Given the description of an element on the screen output the (x, y) to click on. 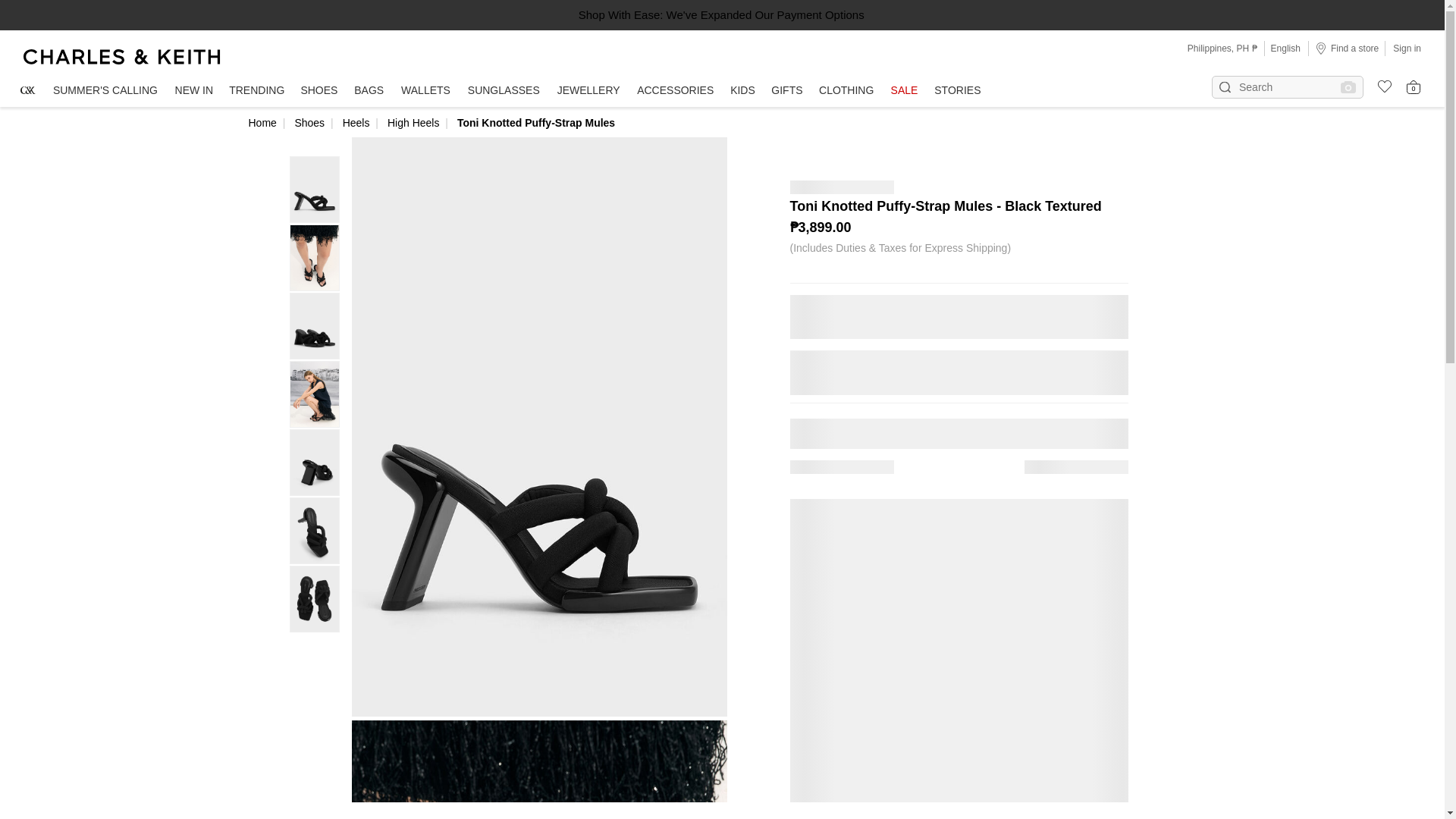
Shop With Ease: We've Expanded Our Payment Options (721, 14)
Philippines, (1212, 48)
View Cart (1413, 87)
wishlist (1378, 84)
Find a store (1346, 48)
Sign in (1407, 48)
SUMMER'S CALLING (105, 91)
